Given the description of an element on the screen output the (x, y) to click on. 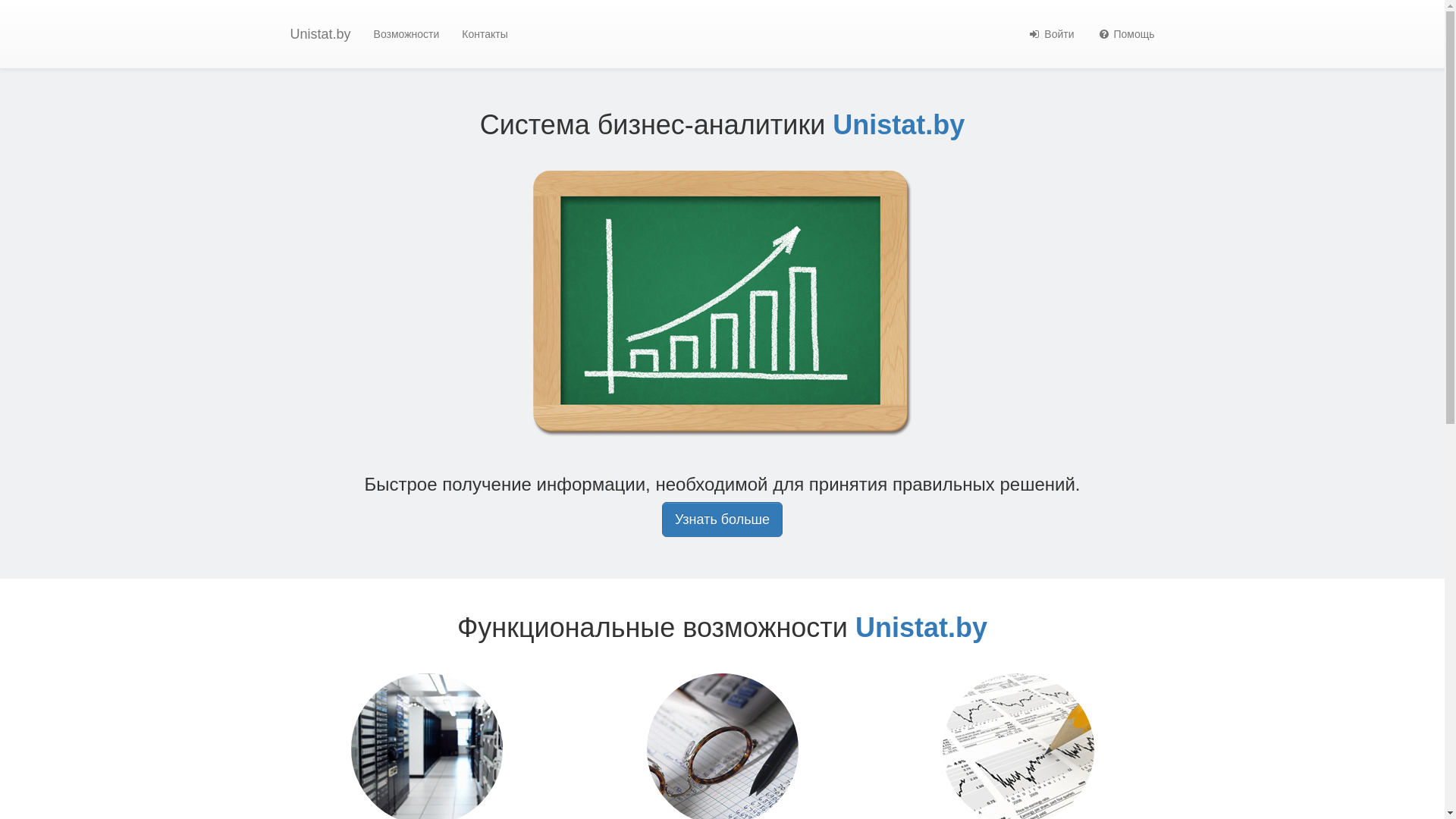
Unistat.by Element type: text (320, 34)
